Given the description of an element on the screen output the (x, y) to click on. 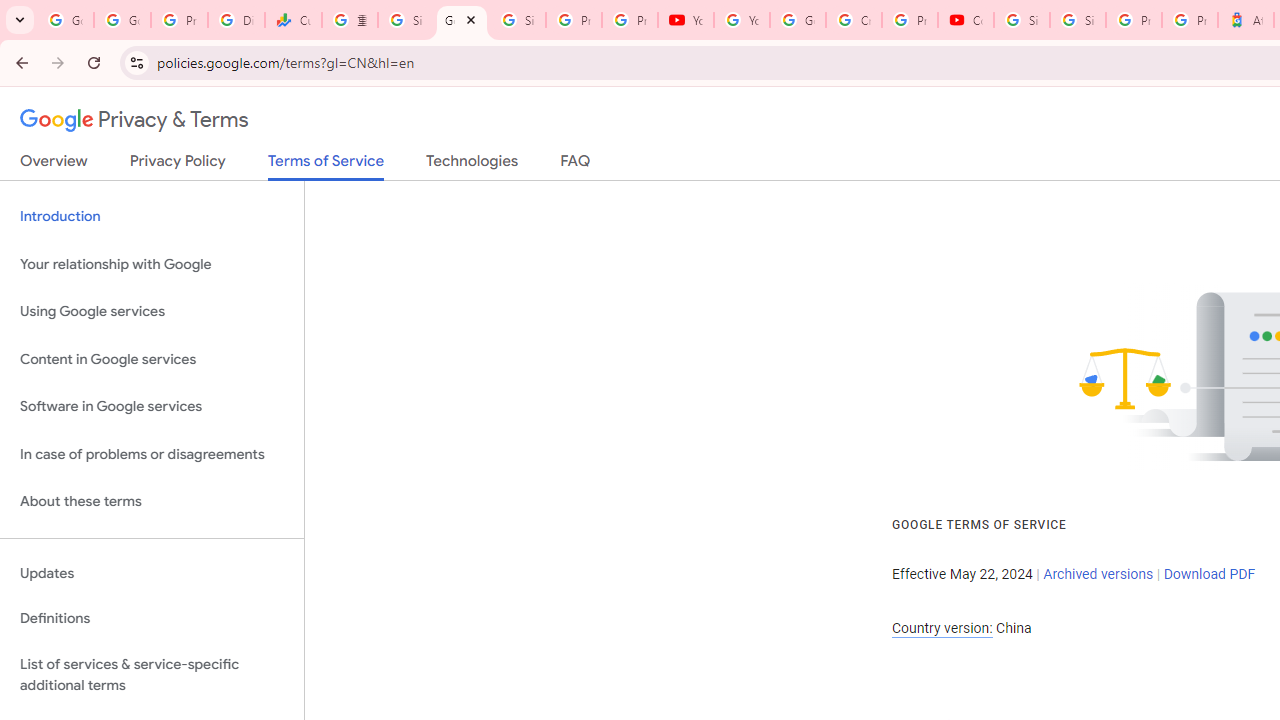
In case of problems or disagreements (152, 453)
Download PDF (1209, 574)
Privacy Checkup (629, 20)
Content Creator Programs & Opportunities - YouTube Creators (966, 20)
Introduction (152, 216)
YouTube (685, 20)
Your relationship with Google (152, 263)
Privacy Policy (177, 165)
List of services & service-specific additional terms (152, 674)
Country version: (942, 628)
Create your Google Account (853, 20)
